Given the description of an element on the screen output the (x, y) to click on. 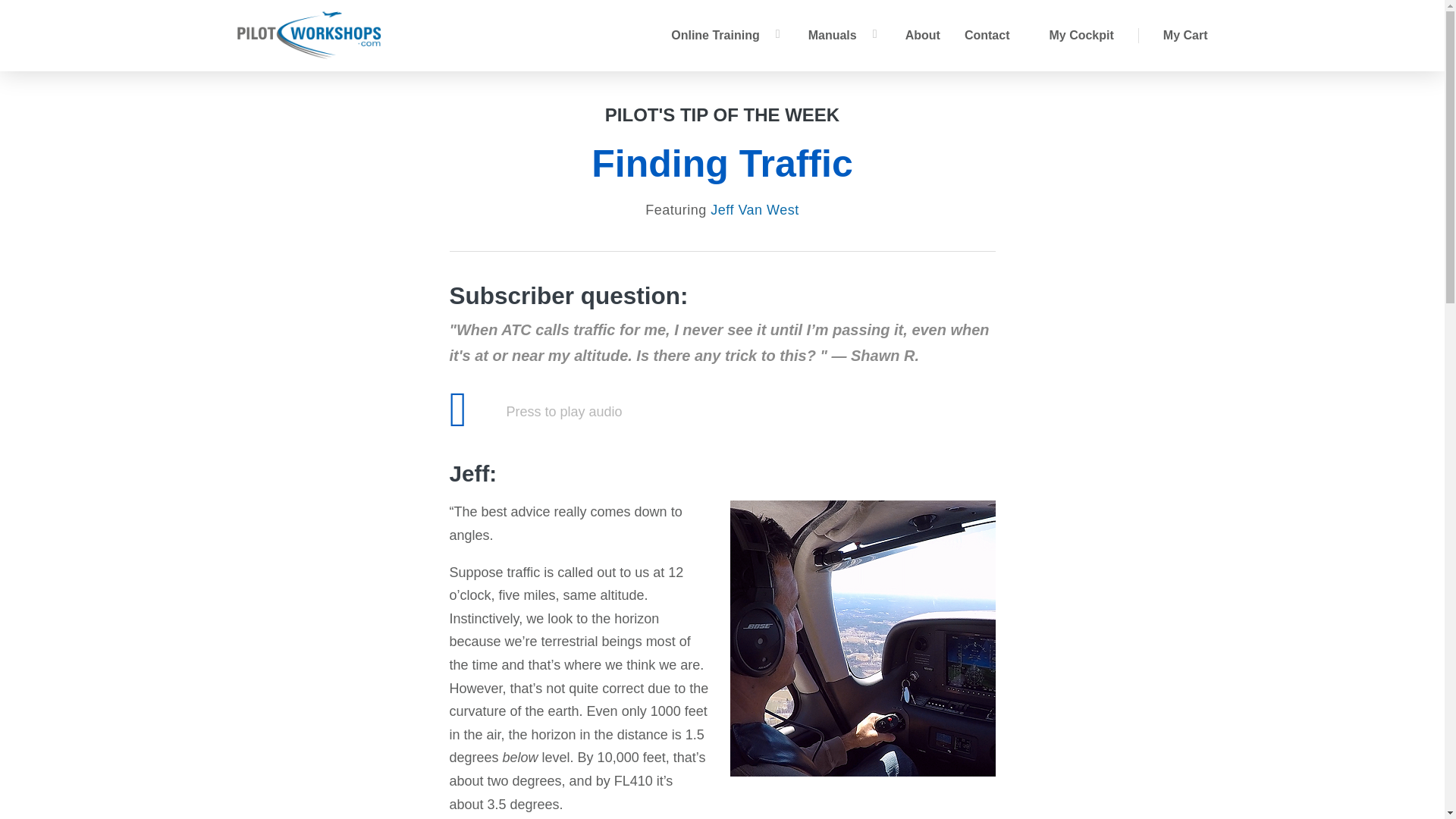
Online Training (714, 34)
My Cart (1185, 35)
Contact (986, 34)
About (922, 34)
View your shopping cart (1185, 35)
Submenu for Online Training (777, 33)
Submenu for Manuals (874, 33)
Manuals (832, 34)
My Cockpit (1080, 35)
